Given the description of an element on the screen output the (x, y) to click on. 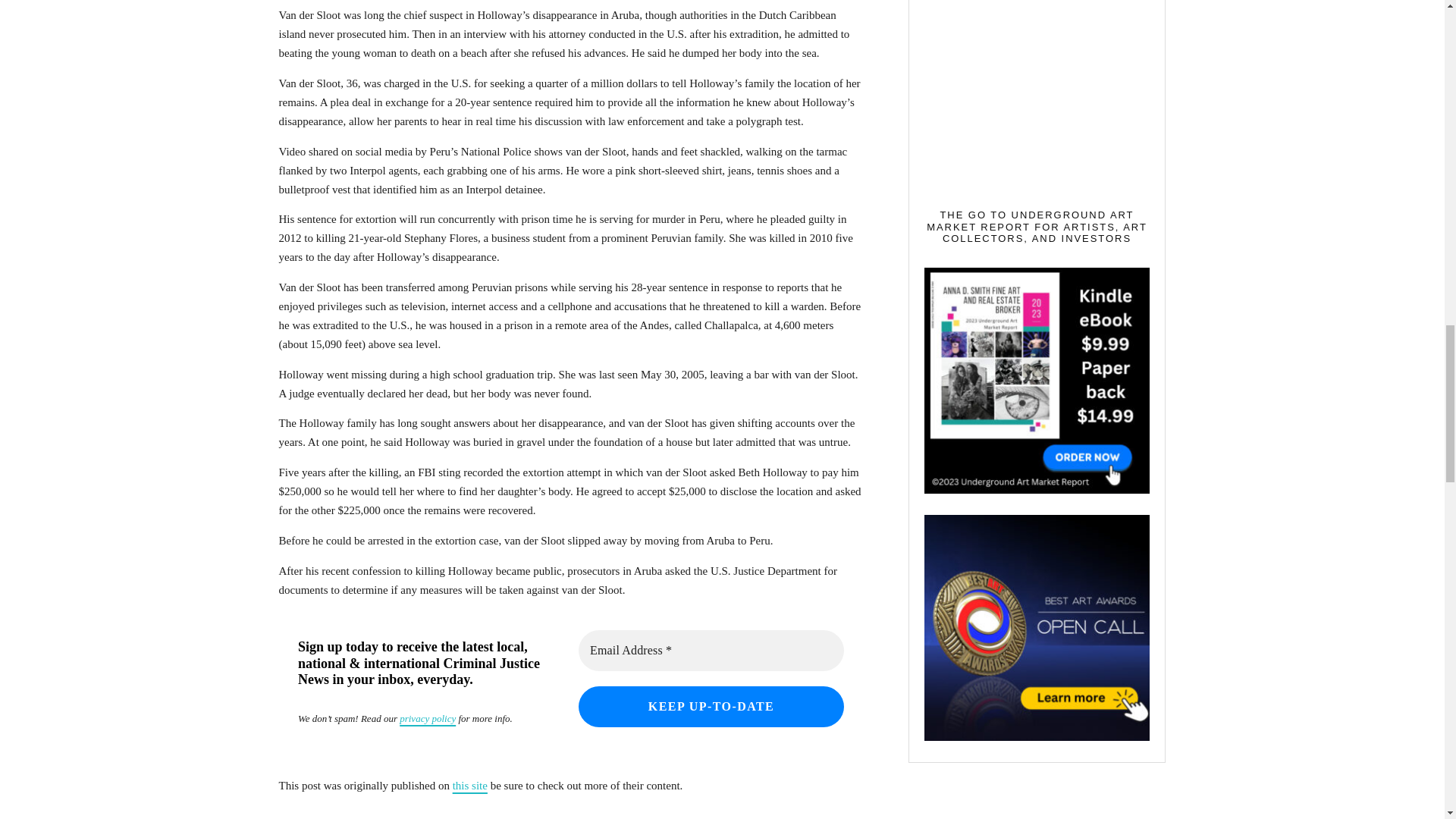
Keep Up-to-date (710, 706)
privacy policy (426, 717)
Email Address (710, 649)
Keep Up-to-date (710, 706)
